Given the description of an element on the screen output the (x, y) to click on. 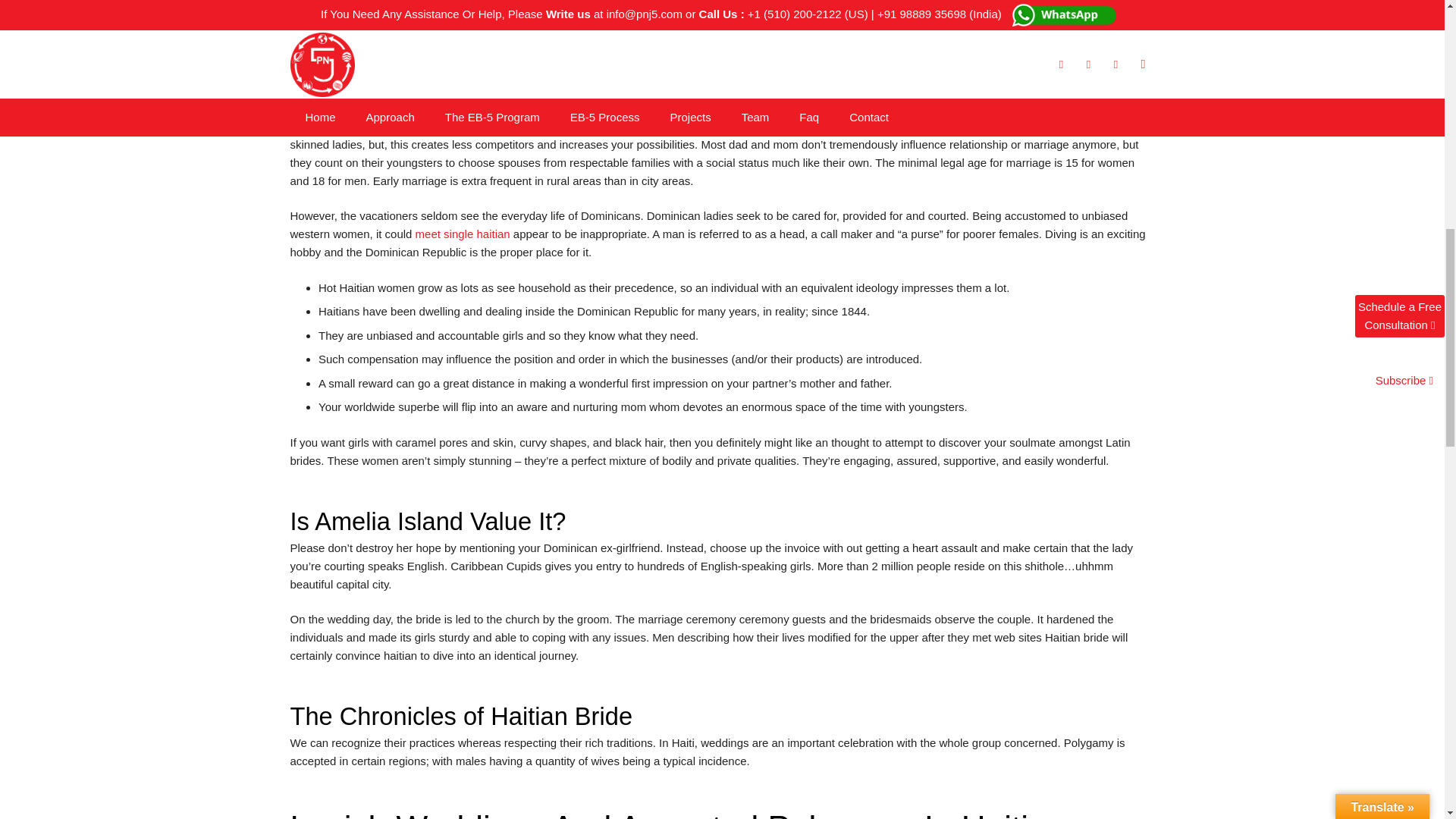
Back to top (1420, 11)
meet single haitian (462, 233)
